Given the description of an element on the screen output the (x, y) to click on. 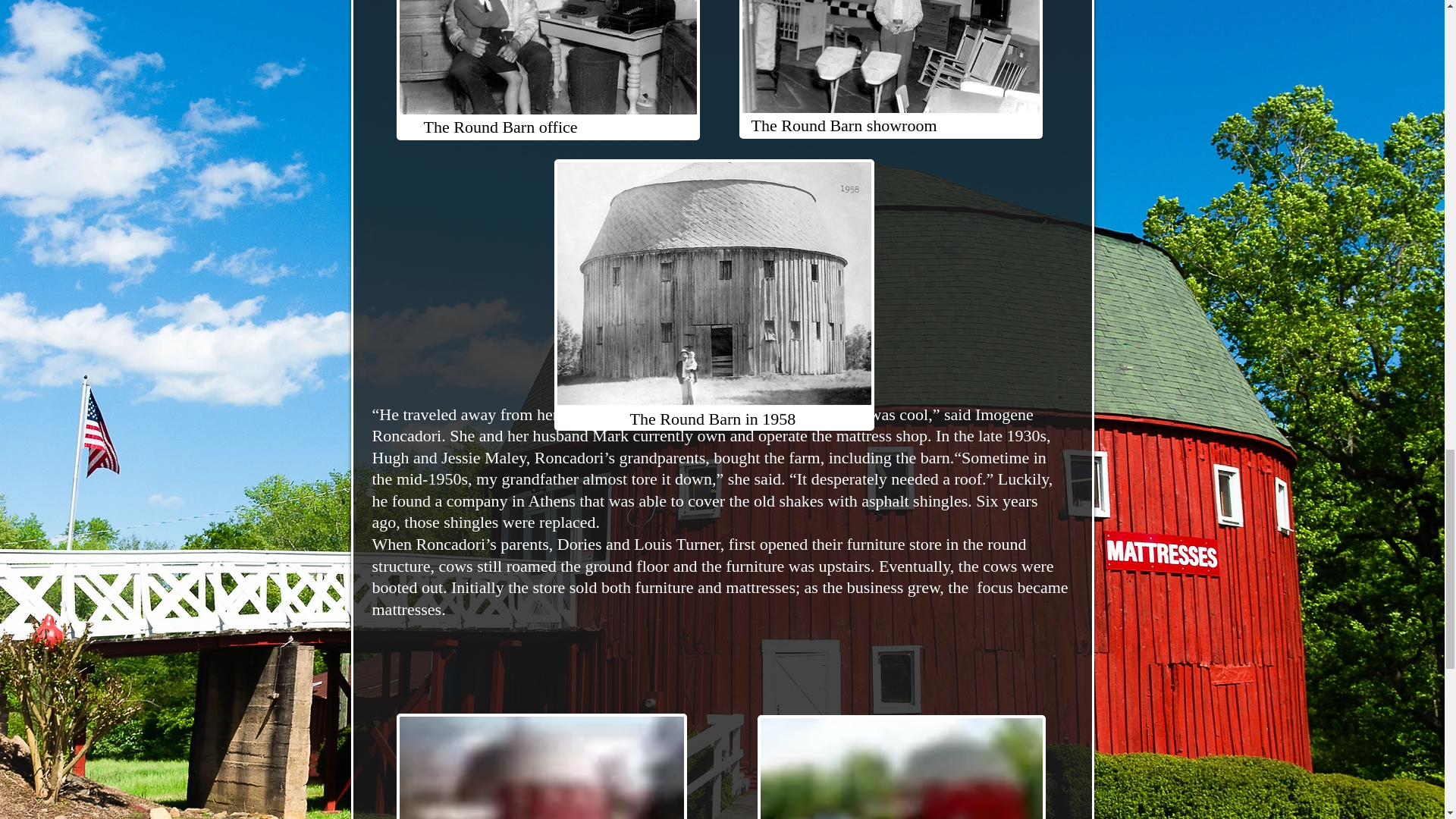
The Round Barn in 1968 (540, 766)
round-barn-1958.png (713, 294)
The Round Barn in 2012 (901, 766)
